Given the description of an element on the screen output the (x, y) to click on. 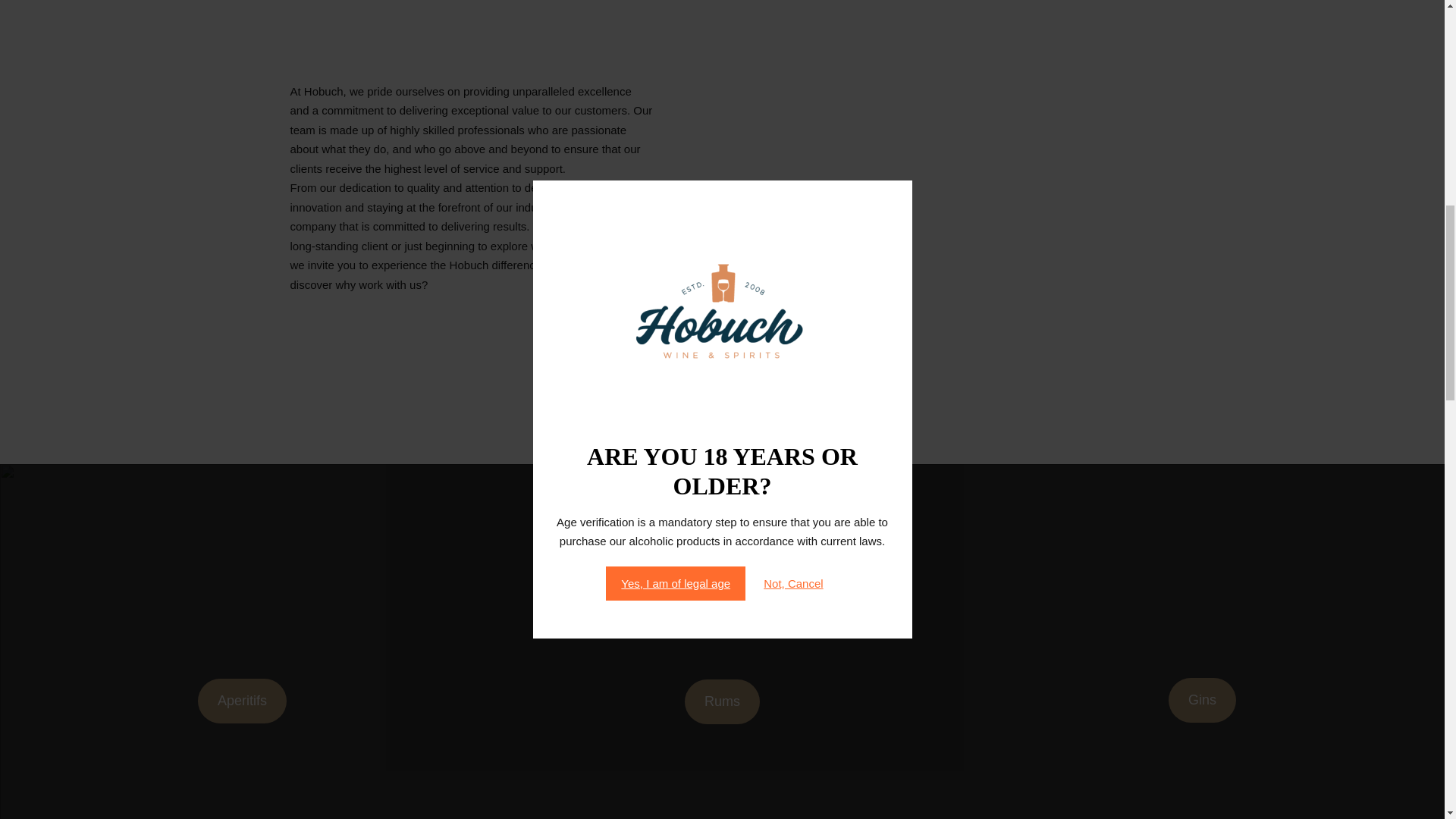
Gins (1202, 700)
Rums (722, 701)
Aperitifs (242, 700)
